Given the description of an element on the screen output the (x, y) to click on. 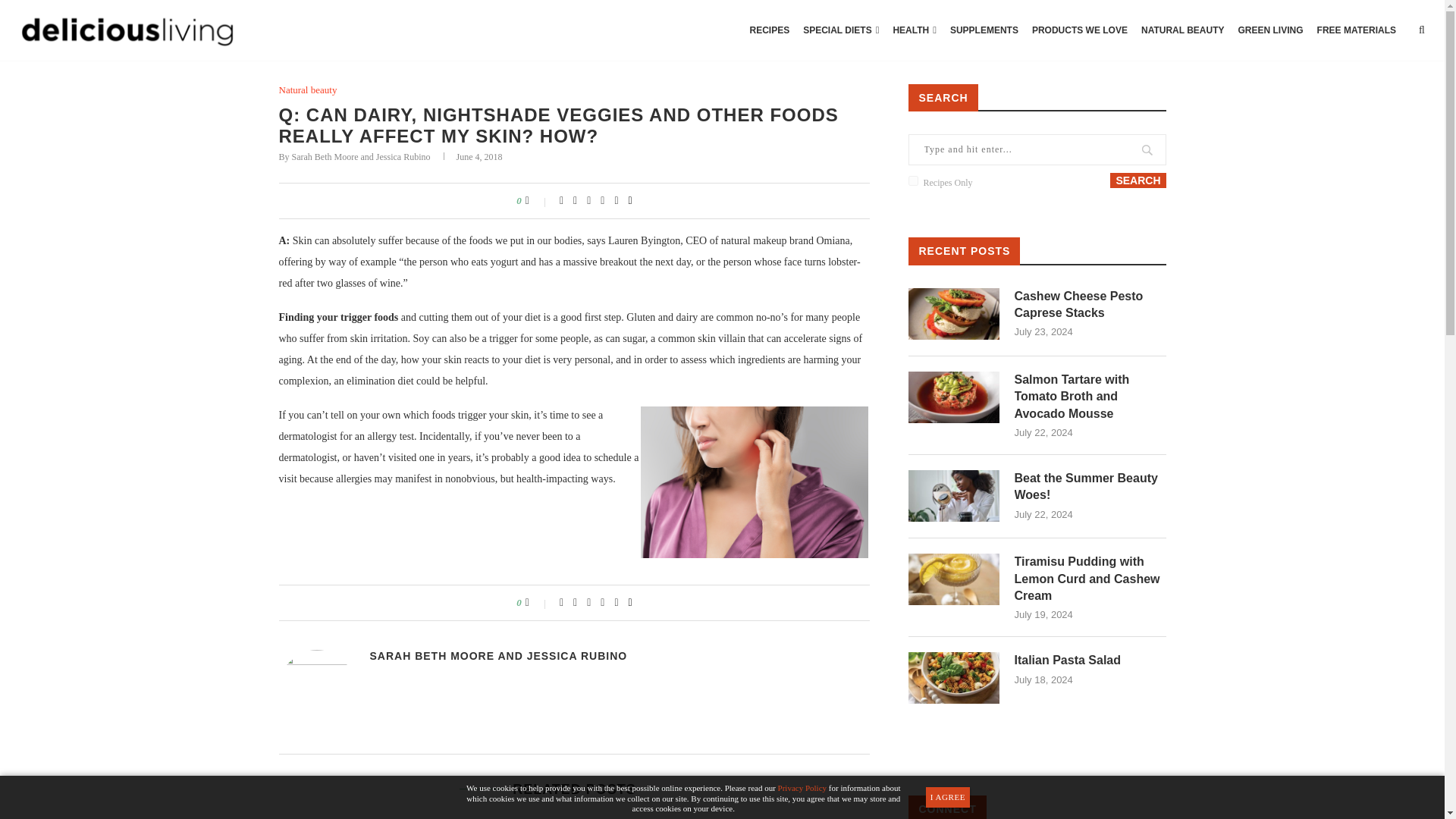
Like (537, 603)
GREEN LIVING (1270, 30)
FREE MATERIALS (1356, 30)
type:recipe (913, 180)
NATURAL BEAUTY (1182, 30)
search (1137, 180)
SPECIAL DIETS (840, 30)
Like (537, 200)
Natural beauty (308, 90)
SUPPLEMENTS (984, 30)
HEALTH (914, 30)
type:recipe (913, 180)
PRODUCTS WE LOVE (1079, 30)
